Given the description of an element on the screen output the (x, y) to click on. 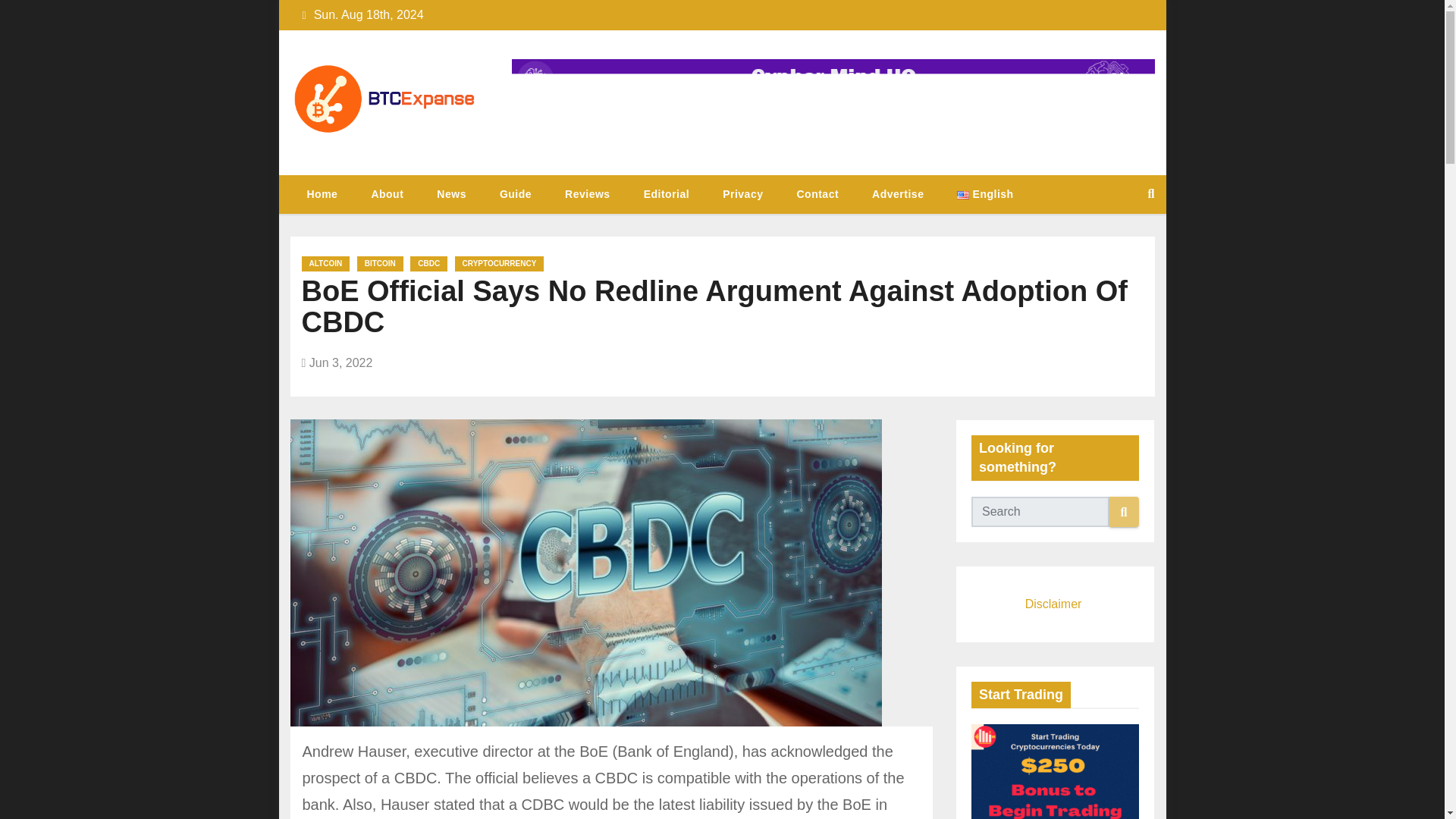
Home (321, 194)
News (451, 194)
About (386, 194)
Home (321, 194)
Privacy (742, 194)
News (451, 194)
Guide (515, 194)
About (386, 194)
Editorial (666, 194)
Guide (515, 194)
